Given the description of an element on the screen output the (x, y) to click on. 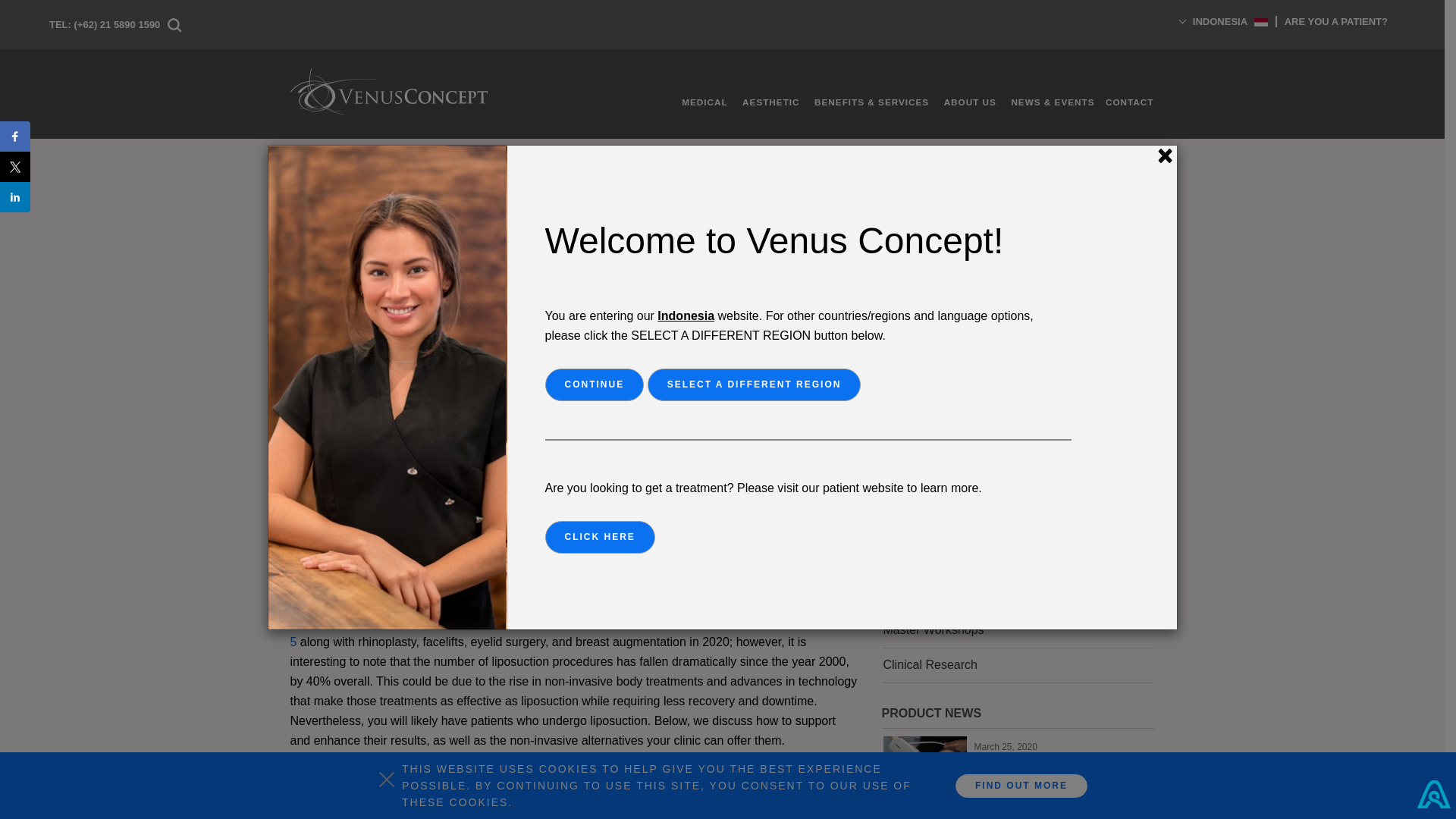
ARE YOU A PATIENT? (1335, 21)
Enter a search term (1004, 301)
AESTHETIC (764, 101)
INDONESIA (1220, 28)
MEDICAL (697, 101)
